Given the description of an element on the screen output the (x, y) to click on. 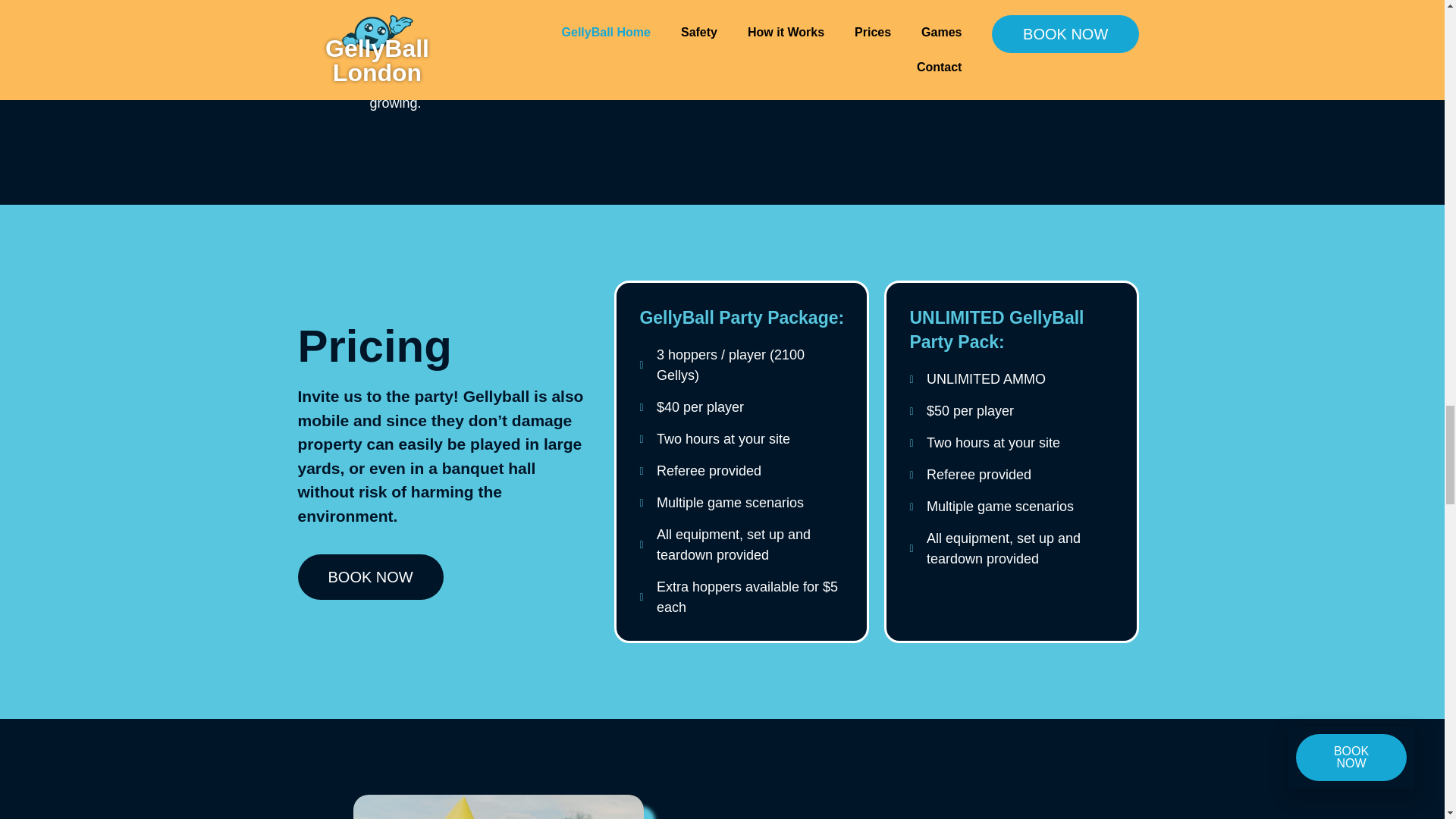
BOOK NOW (369, 576)
